Given the description of an element on the screen output the (x, y) to click on. 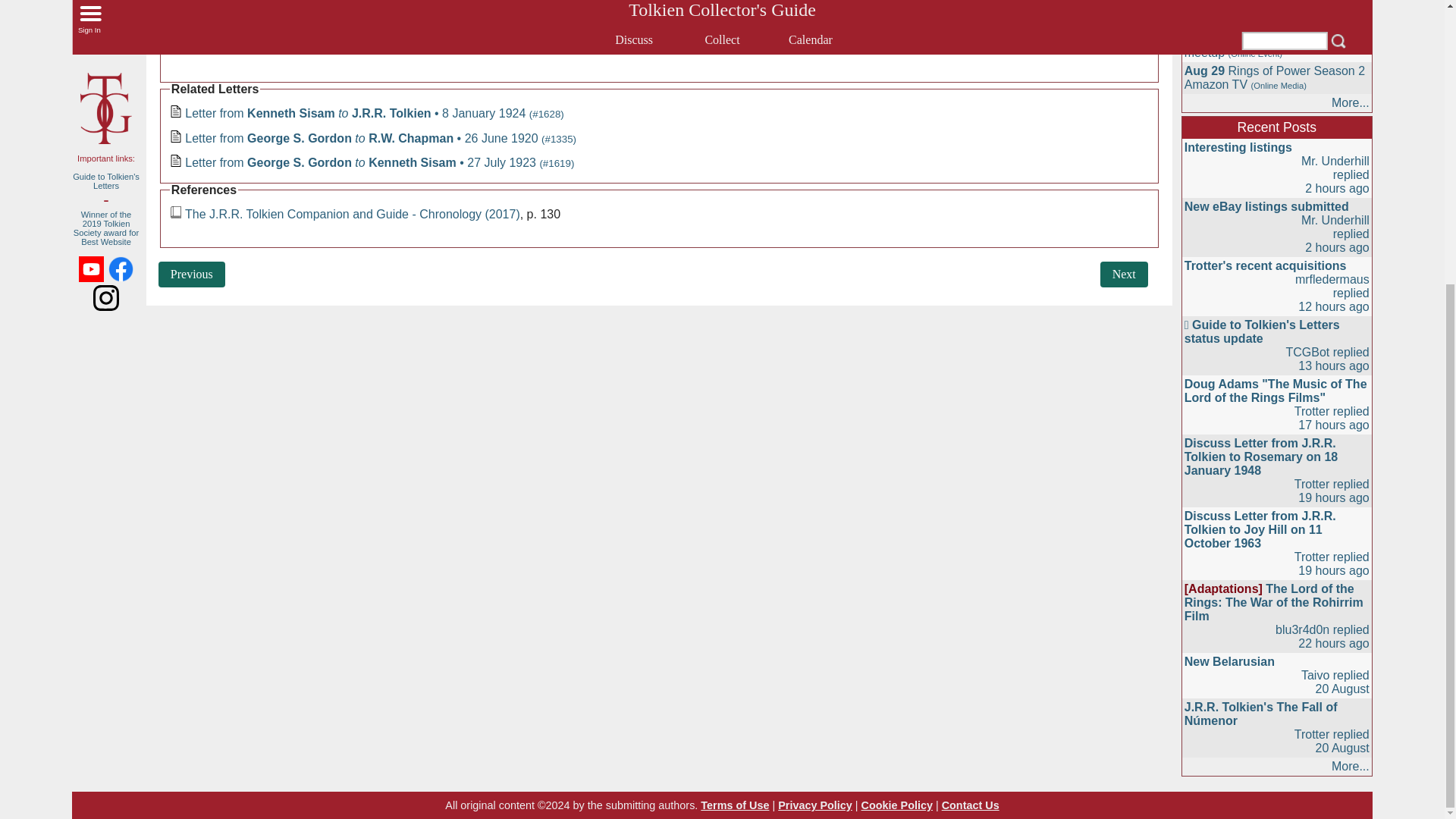
1335: George S. Gordon to R.W. Chapman (191, 274)
letter (176, 160)
1619: George S. Gordon to Kenneth Sisam (1124, 274)
book (176, 212)
Kenneth Sisam (425, 45)
George S. Gordon (540, 45)
letter (176, 136)
Clarendon Chaucer (232, 45)
letter (176, 111)
Chaucer (333, 45)
